Given the description of an element on the screen output the (x, y) to click on. 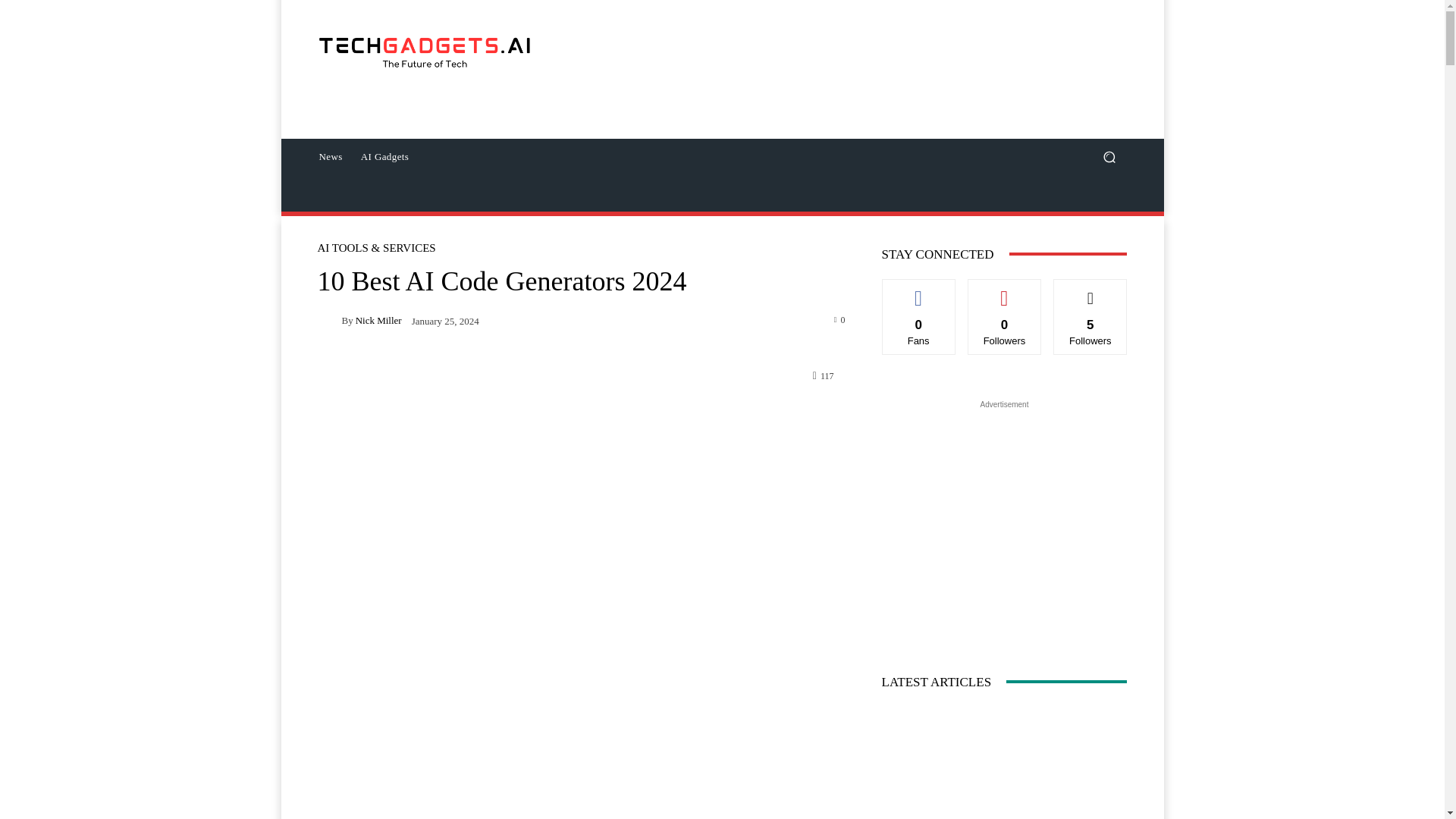
Nick Miller (378, 320)
News (329, 156)
0 (839, 318)
AI Gadgets (385, 156)
Nick Miller (328, 320)
